Given the description of an element on the screen output the (x, y) to click on. 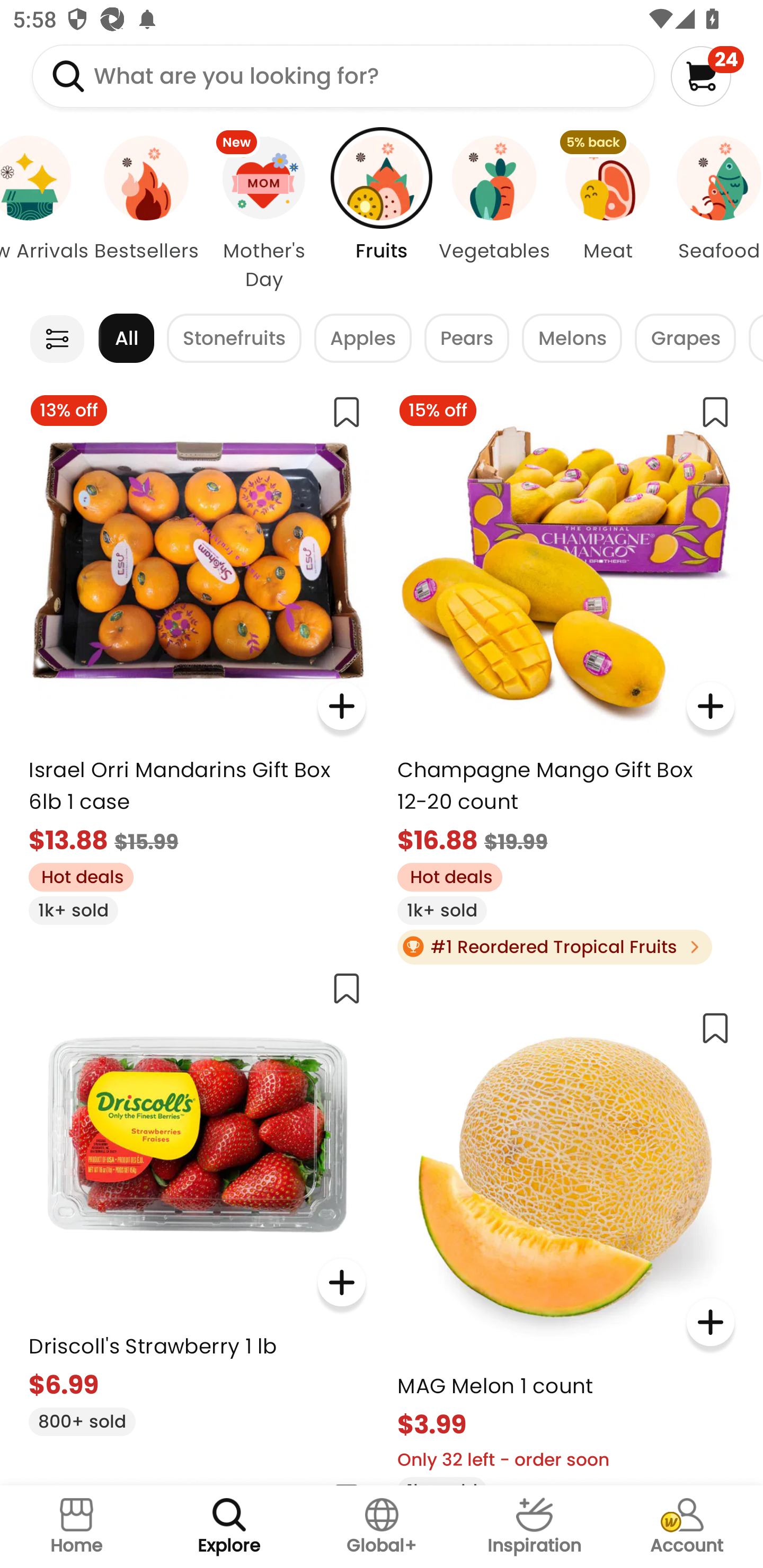
What are you looking for? (343, 75)
24 (706, 75)
New Arrivals (45, 214)
Bestsellers (146, 214)
New Mother's Day (263, 214)
Fruits (381, 214)
Vegetables (494, 214)
5% back Meat (607, 214)
Seafood (713, 214)
All (126, 337)
Stonefruits (234, 337)
Apples (363, 337)
Pears (466, 337)
Melons (571, 337)
Grapes (685, 337)
Driscoll's Strawberry 1 lb $6.99 800+ sold (197, 1196)
Home (76, 1526)
Explore (228, 1526)
Global+ (381, 1526)
Inspiration (533, 1526)
Account (686, 1526)
